Given the description of an element on the screen output the (x, y) to click on. 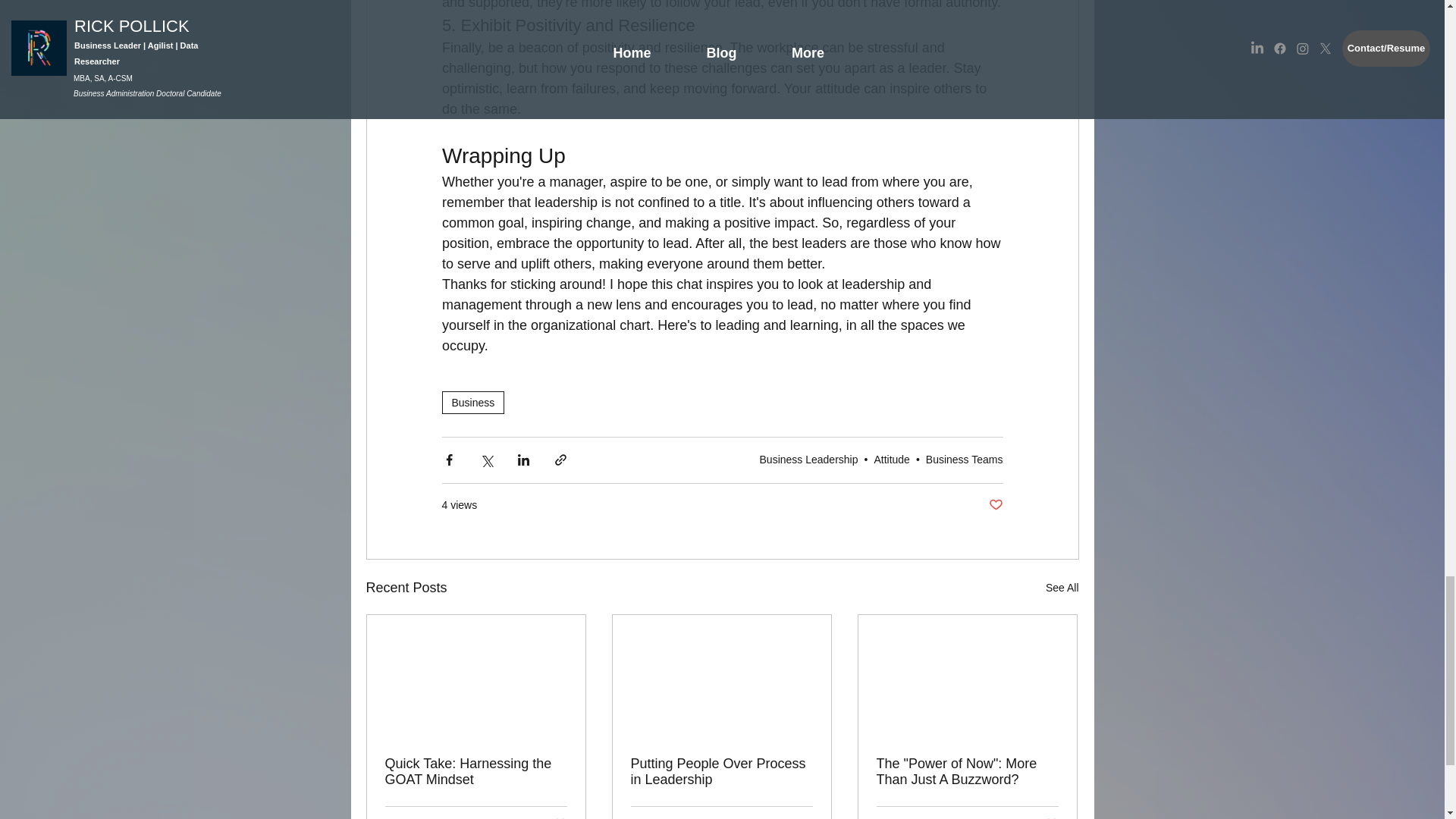
Attitude (890, 459)
Business Teams (964, 459)
Post not marked as liked (995, 505)
Business Leadership (809, 459)
See All (1061, 587)
Business (472, 402)
